Given the description of an element on the screen output the (x, y) to click on. 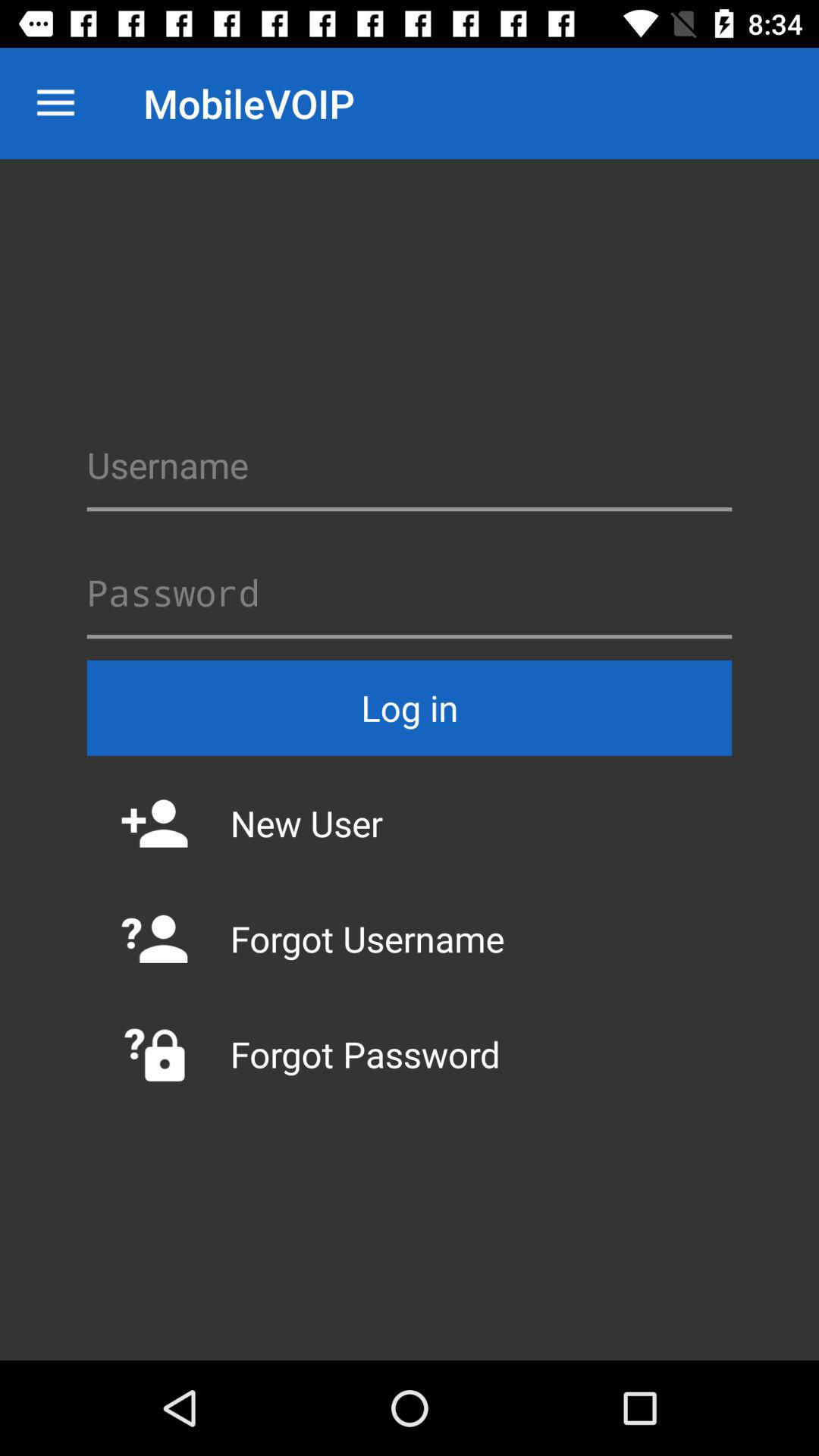
launch forgot password item (409, 1054)
